Given the description of an element on the screen output the (x, y) to click on. 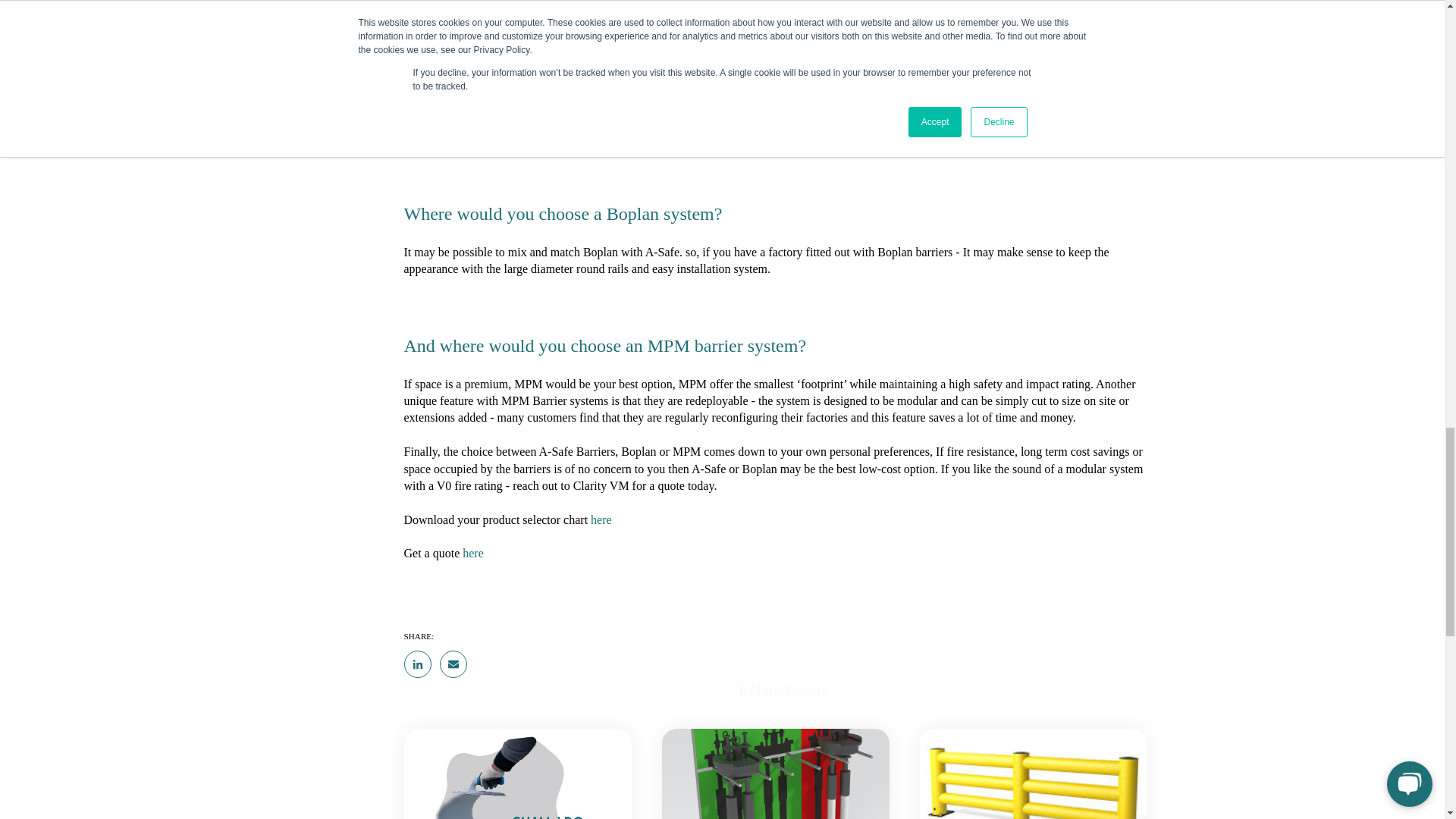
here (601, 519)
here (473, 553)
